Given the description of an element on the screen output the (x, y) to click on. 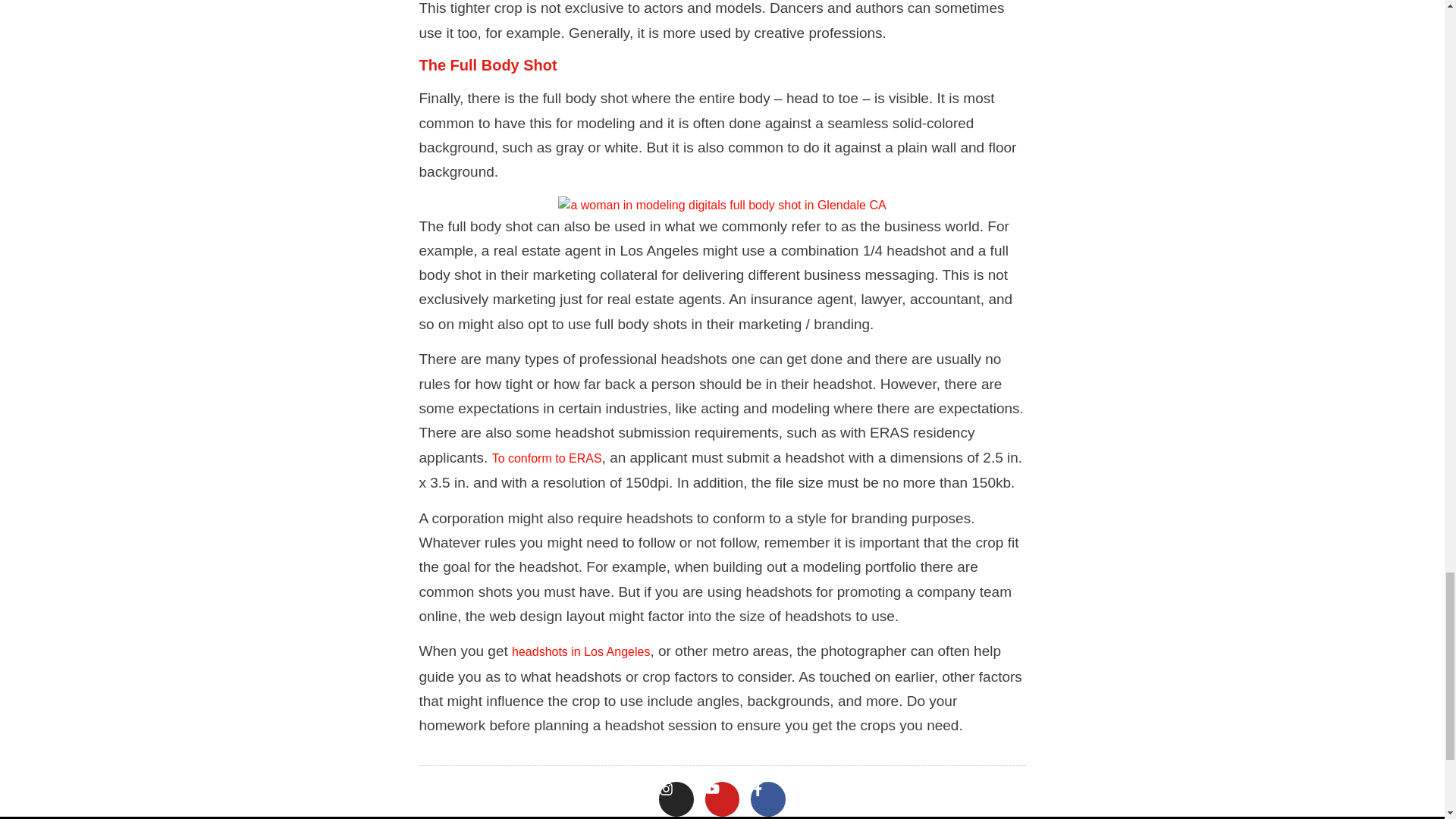
The Light Committee (721, 205)
